Given the description of an element on the screen output the (x, y) to click on. 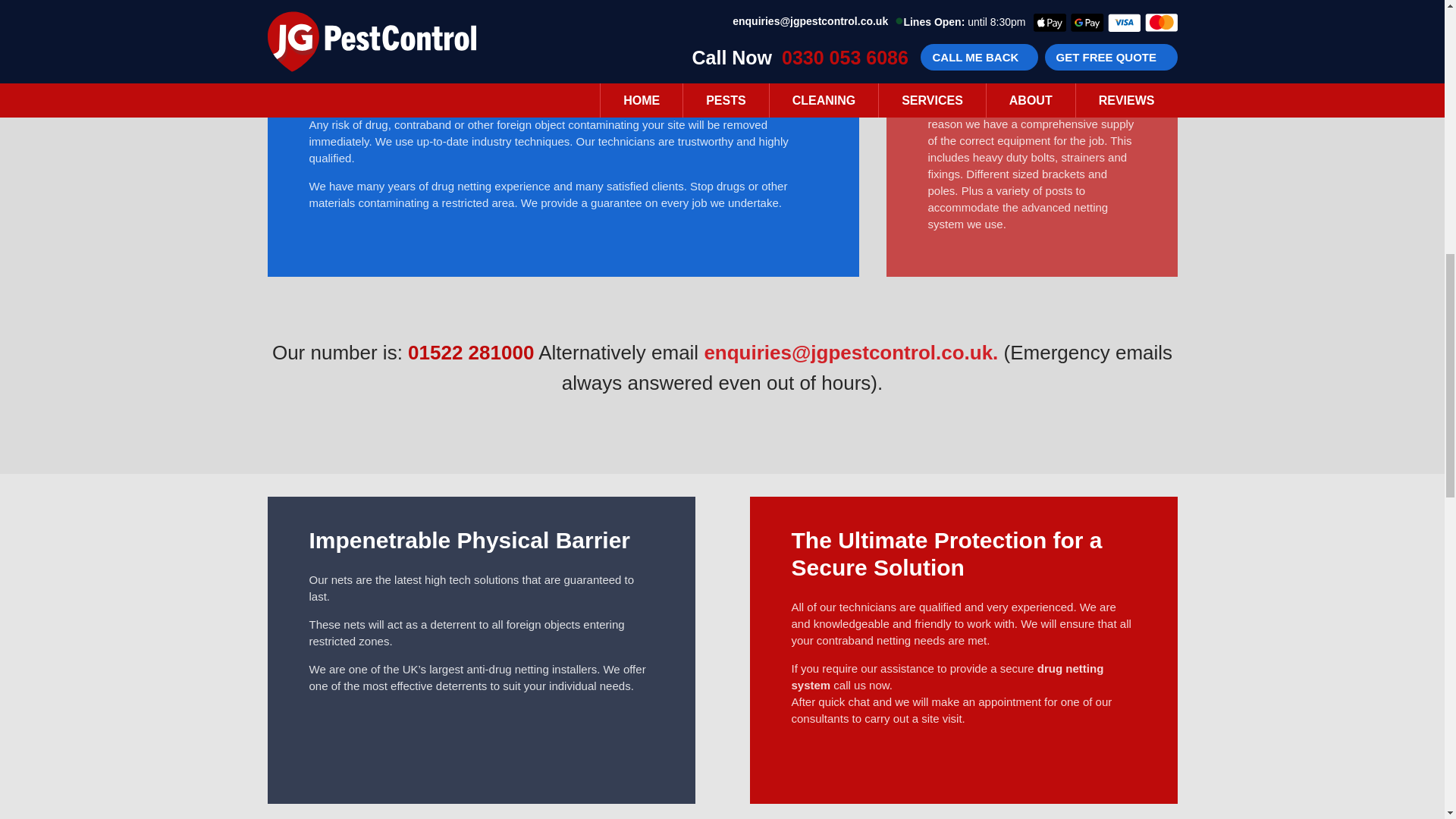
Drug netting (947, 676)
